Given the description of an element on the screen output the (x, y) to click on. 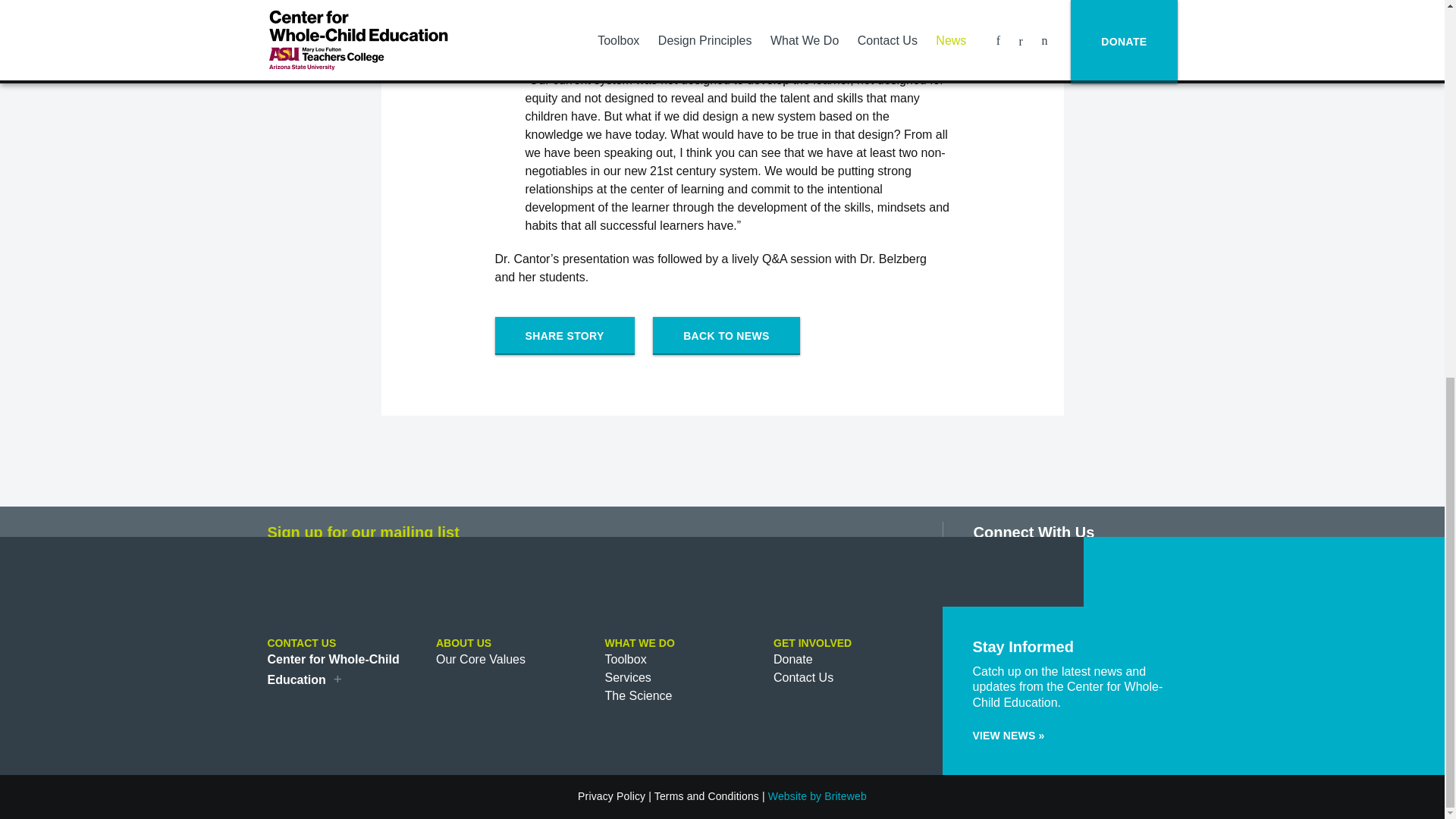
Terms and Conditions (705, 796)
Privacy Policy (611, 796)
